Given the description of an element on the screen output the (x, y) to click on. 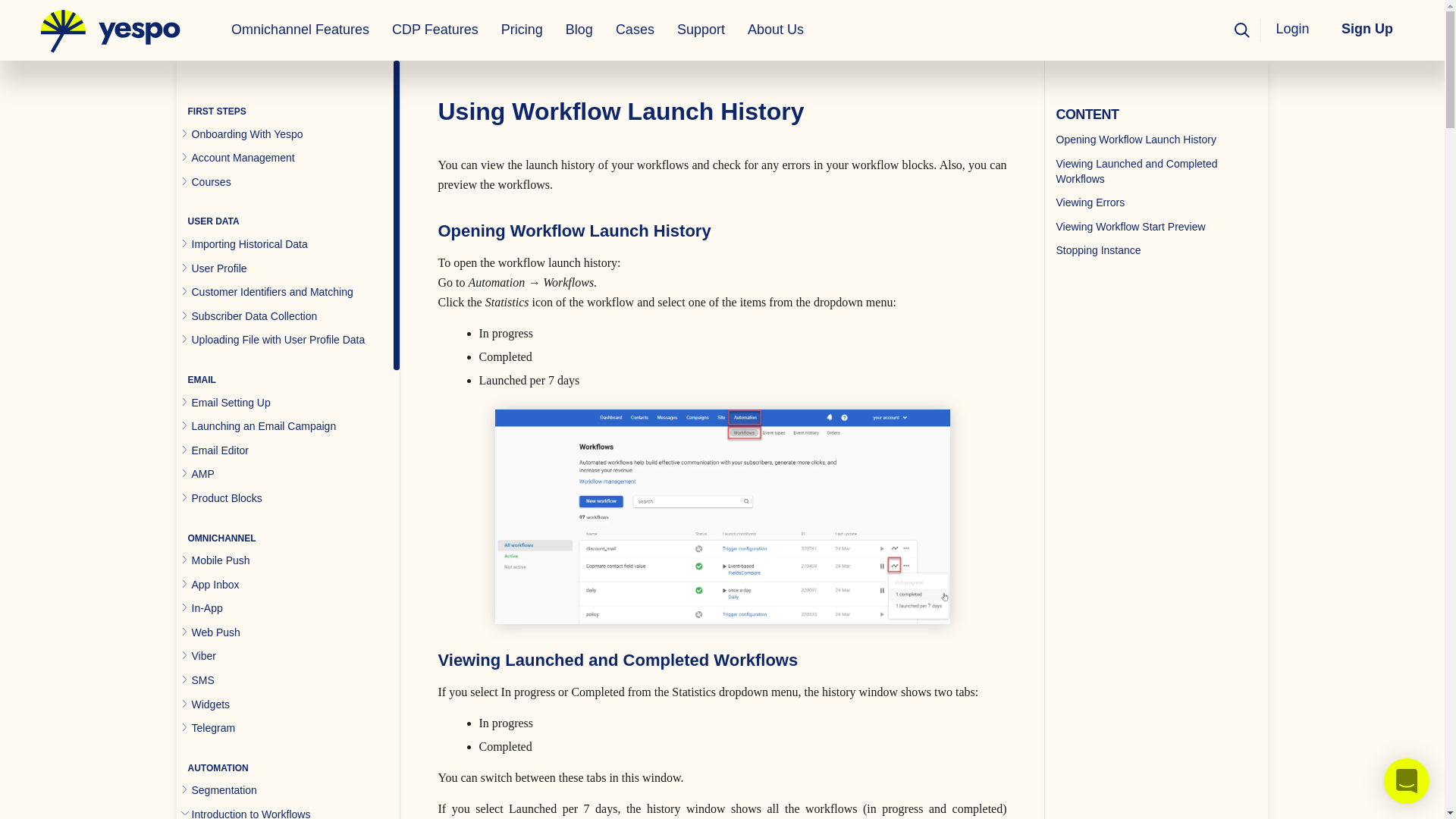
Sign Up (1366, 28)
About Us (775, 30)
Onboarding With Yespo (246, 133)
CDP Features (434, 30)
Omnichannel Features (299, 30)
Support (700, 30)
Launched and Completed Workflows (722, 516)
Cases (634, 30)
Login (1295, 28)
Pricing (521, 30)
